Given the description of an element on the screen output the (x, y) to click on. 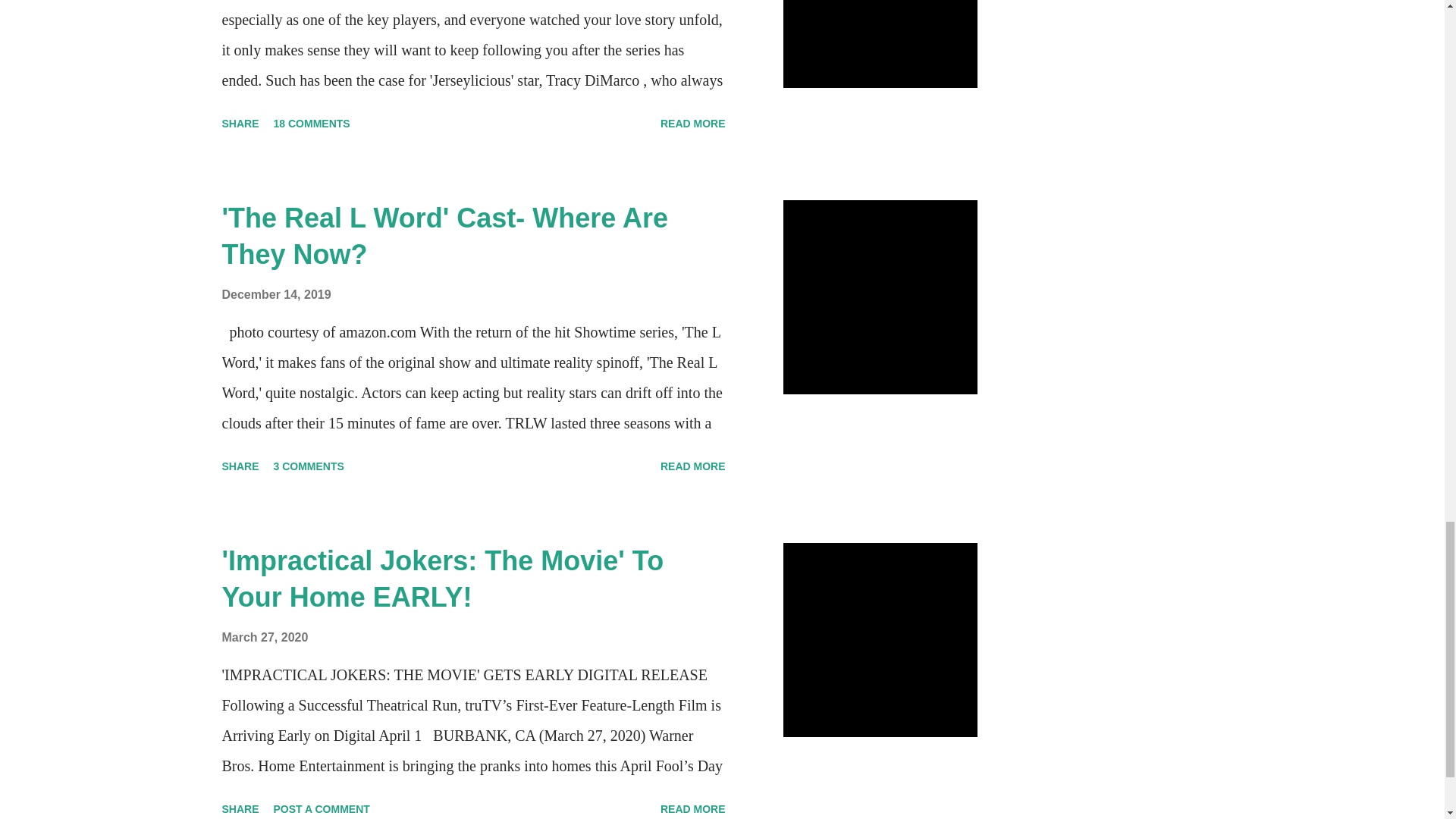
3 COMMENTS (308, 466)
SHARE (239, 466)
March 27, 2020 (264, 636)
READ MORE (692, 123)
'Impractical Jokers: The Movie' To Your Home EARLY! (442, 578)
SHARE (239, 123)
READ MORE (692, 466)
December 14, 2019 (275, 294)
18 COMMENTS (311, 123)
'The Real L Word' Cast- Where Are They Now? (444, 236)
